Given the description of an element on the screen output the (x, y) to click on. 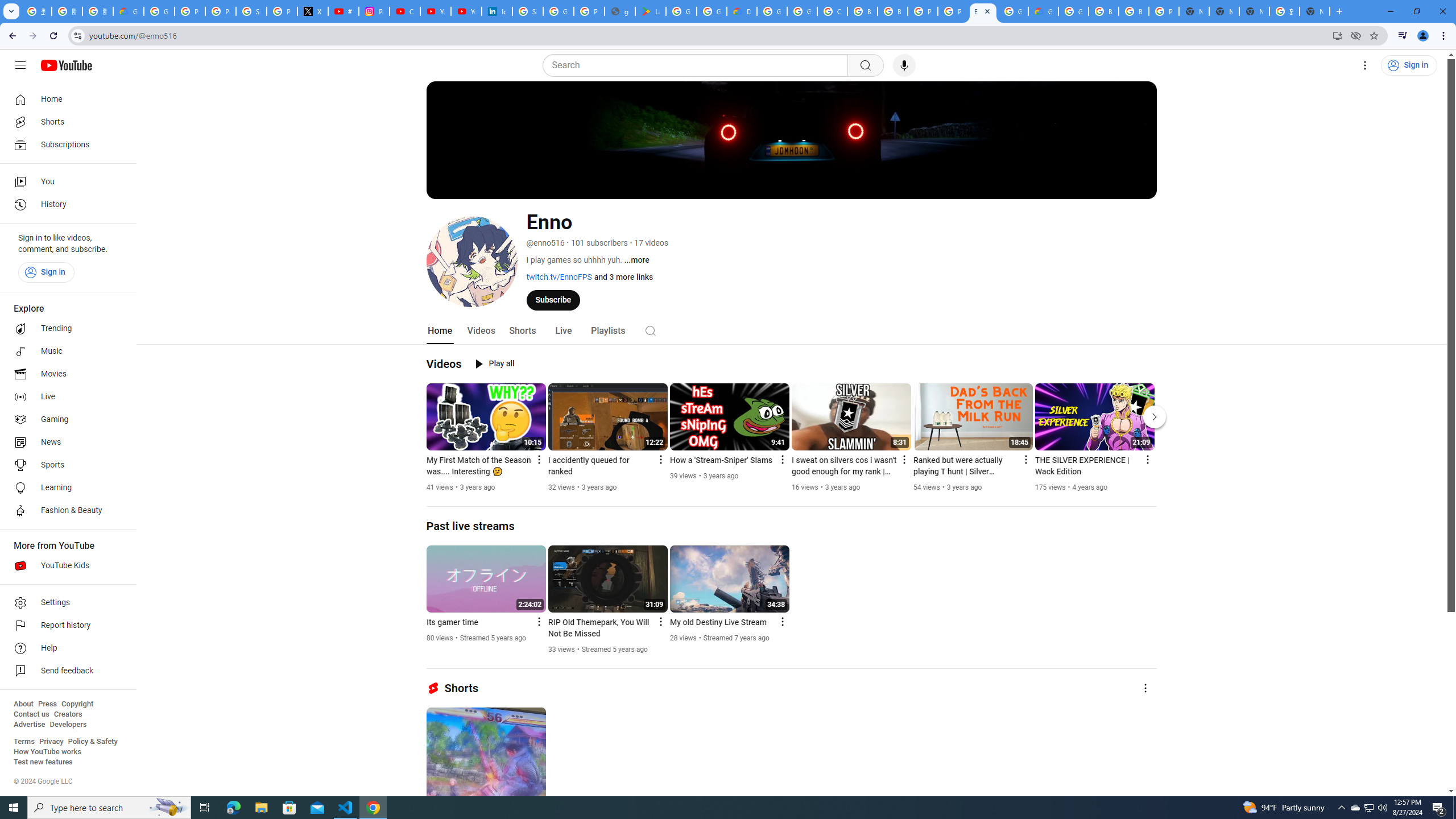
Trending (64, 328)
Google Cloud Privacy Notice (127, 11)
Movies (64, 373)
YouTube Culture & Trends - YouTube Top 10, 2021 (465, 11)
History (64, 204)
Google Cloud Platform (1012, 11)
